Given the description of an element on the screen output the (x, y) to click on. 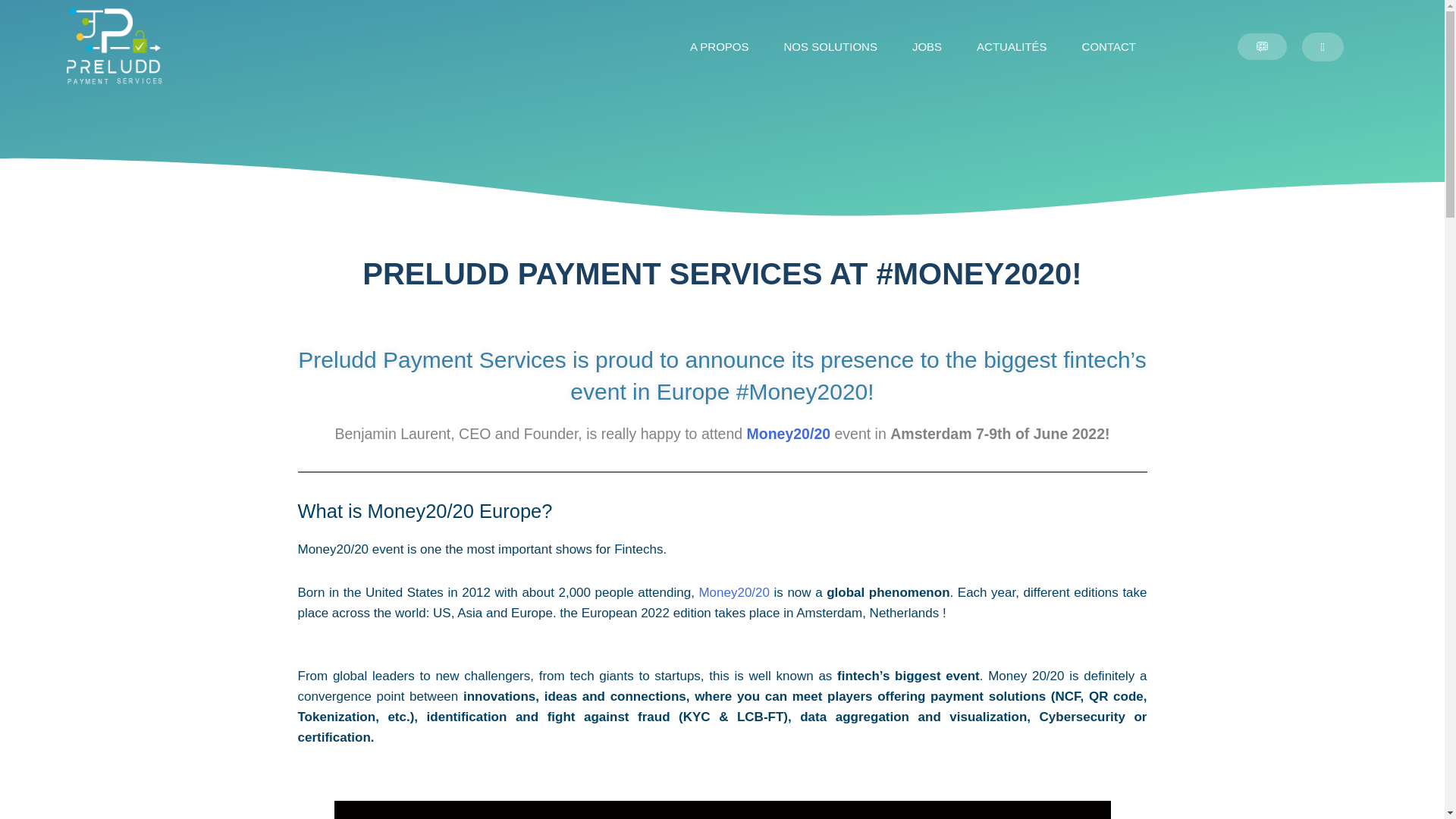
A PROPOS (719, 46)
NOS SOLUTIONS (830, 46)
CONTACT (1109, 46)
